Given the description of an element on the screen output the (x, y) to click on. 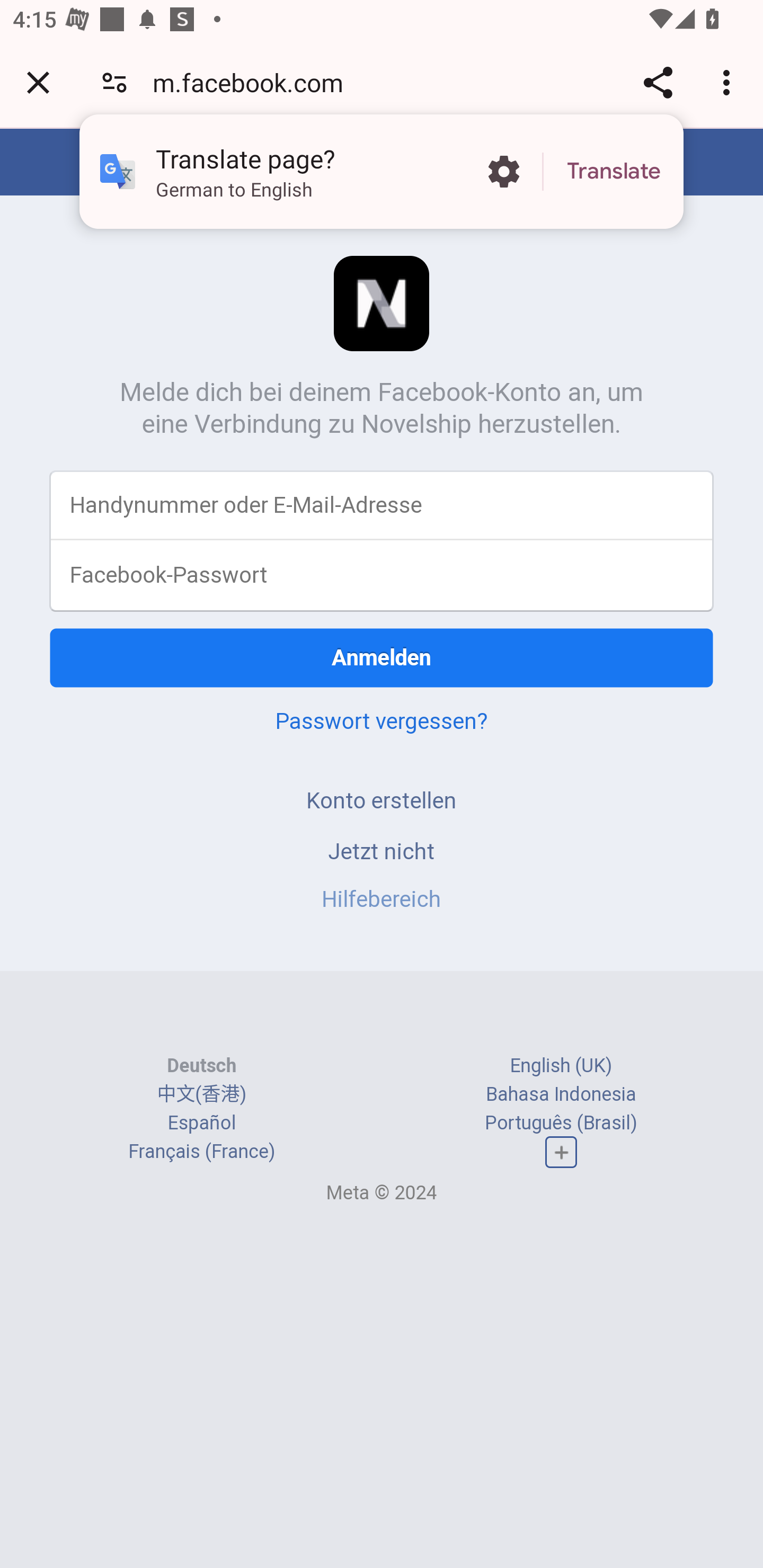
Close tab (38, 82)
Share (657, 82)
Customize and control Google Chrome (729, 82)
Connection is secure (114, 81)
m.facebook.com (254, 81)
Translate (613, 171)
More options in the Translate page? (503, 171)
Anmelden (381, 657)
Passwort vergessen? (381, 720)
Konto erstellen (381, 800)
Jetzt nicht (381, 850)
Hilfebereich (381, 898)
English (UK) (560, 1065)
中文(香港) (201, 1093)
Bahasa Indonesia (560, 1093)
Español (201, 1122)
Português (Brasil) (560, 1122)
Vollständige Liste aller Sprachen (560, 1152)
Français (France) (201, 1151)
